Given the description of an element on the screen output the (x, y) to click on. 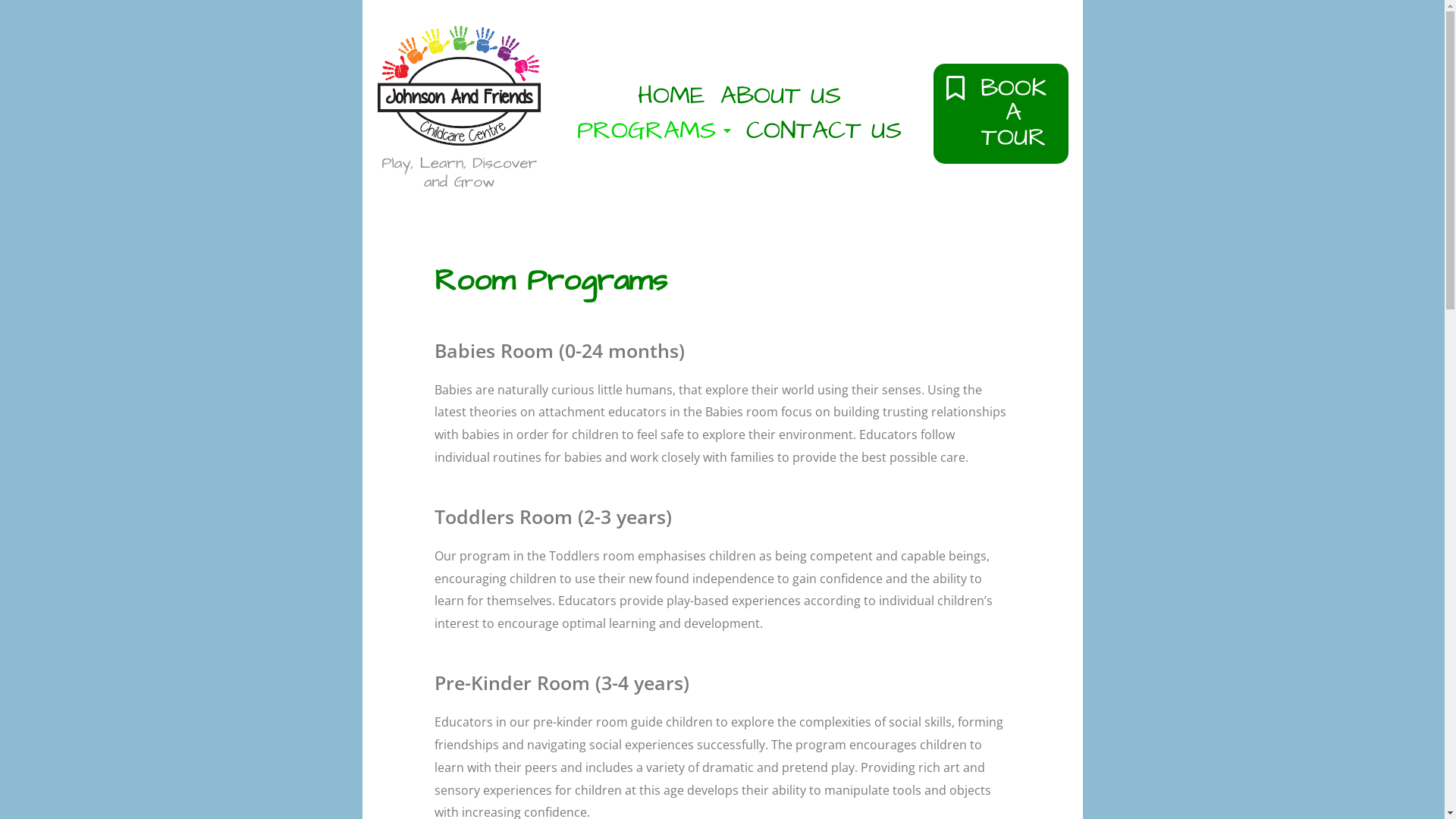
ABOUT US Element type: text (780, 95)
PROGRAMS Element type: text (653, 130)
CONTACT US Element type: text (823, 130)
BOOK A TOUR Element type: text (1000, 113)
HOME Element type: text (671, 95)
